Given the description of an element on the screen output the (x, y) to click on. 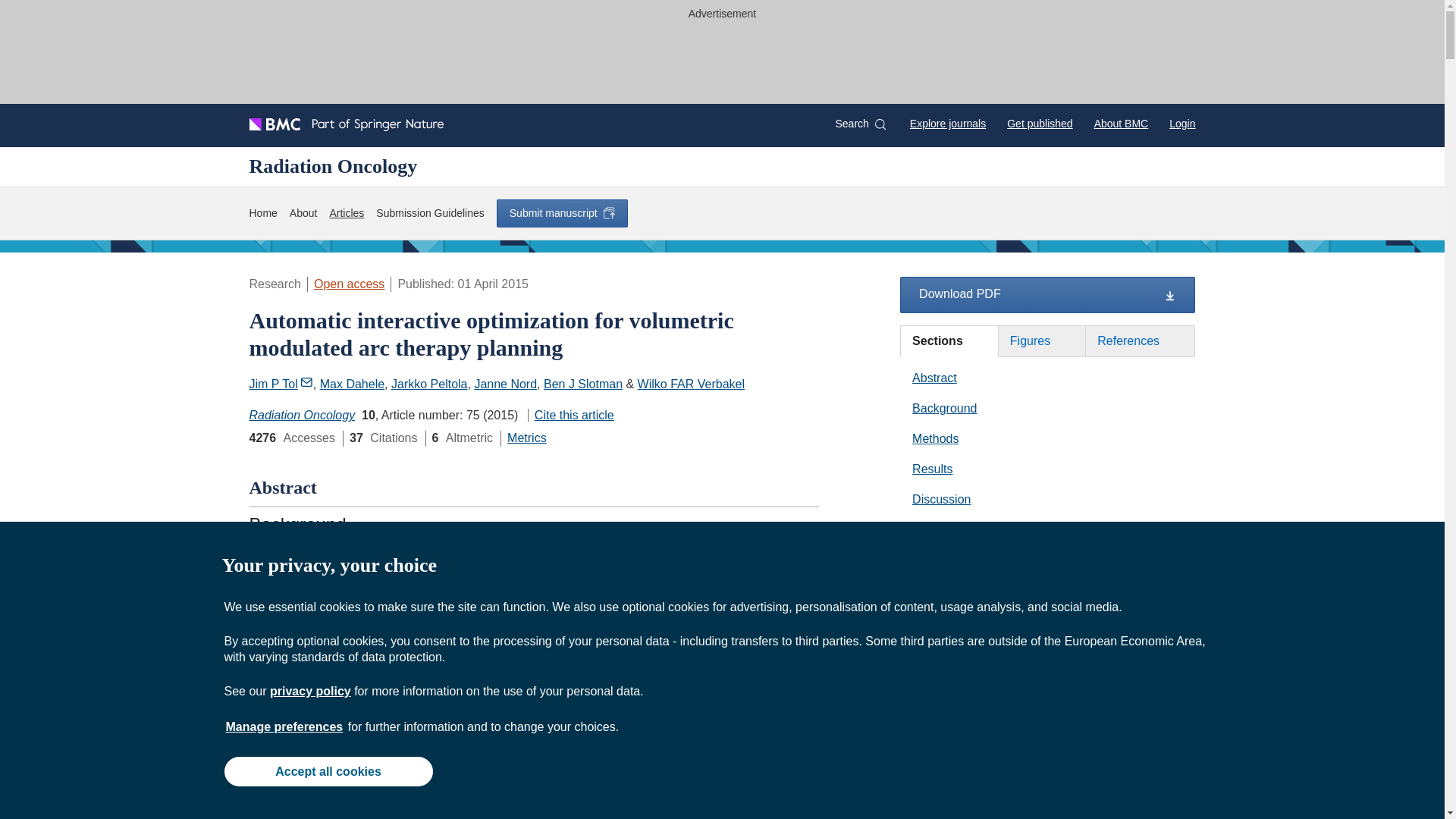
Max Dahele (352, 383)
Get published (1039, 123)
Radiation Oncology (332, 166)
Ben J Slotman (583, 383)
Jarkko Peltola (429, 383)
Wilko FAR Verbakel (690, 383)
Manage preferences (284, 726)
Explore journals (947, 123)
Login (1182, 123)
Accept all cookies (328, 771)
About BMC (1121, 123)
Janne Nord (505, 383)
Home (262, 212)
Radiation Oncology (301, 414)
Metrics (526, 437)
